Given the description of an element on the screen output the (x, y) to click on. 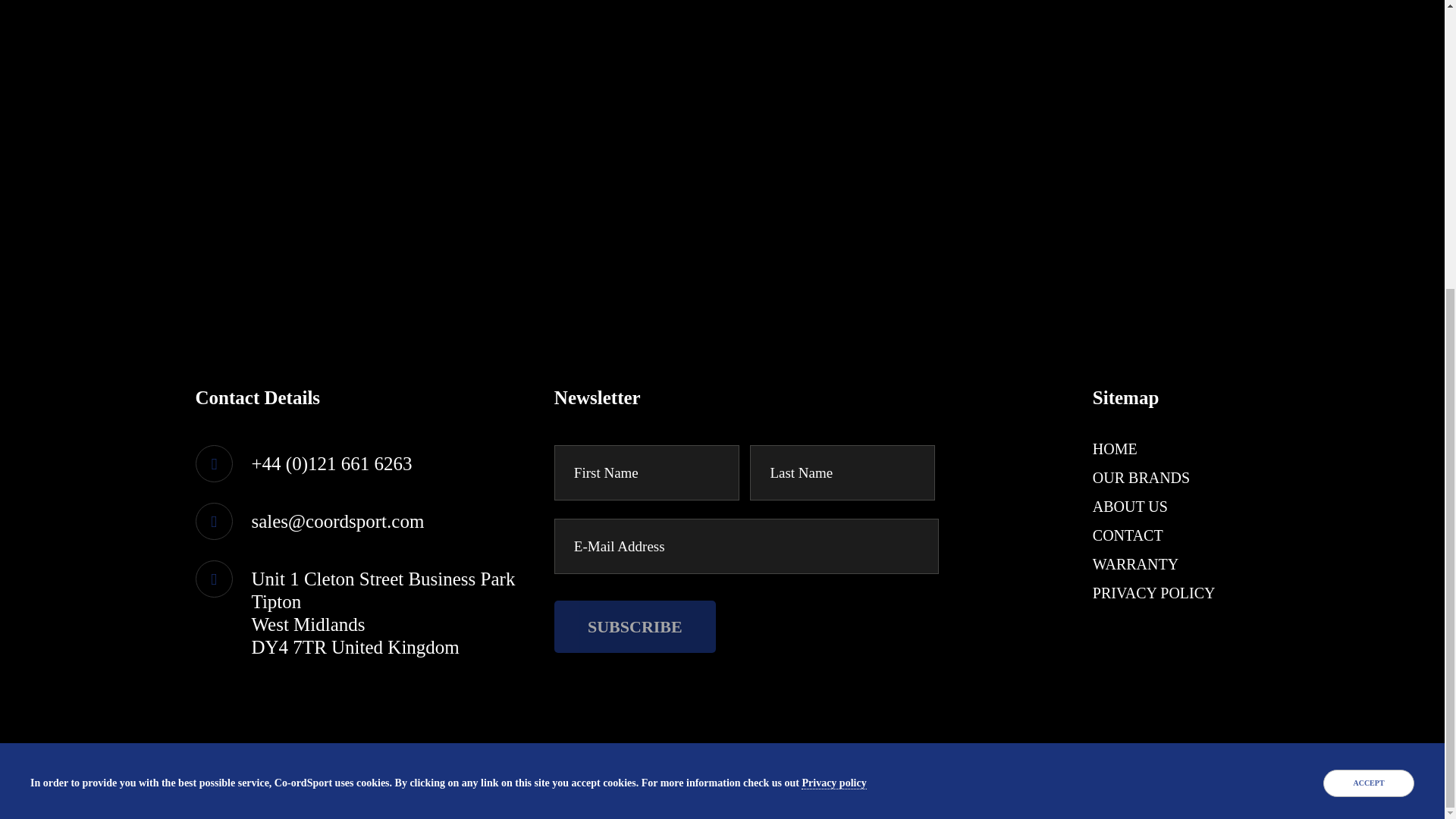
CONTACT (1128, 535)
PRIVACY POLICY (1154, 593)
HOME (1115, 449)
WARRANTY (1135, 564)
ACCEPT (1368, 345)
OUR BRANDS (1141, 477)
SUBSCRIBE (635, 626)
Privacy policy (834, 345)
ABOUT US (1130, 506)
